Given the description of an element on the screen output the (x, y) to click on. 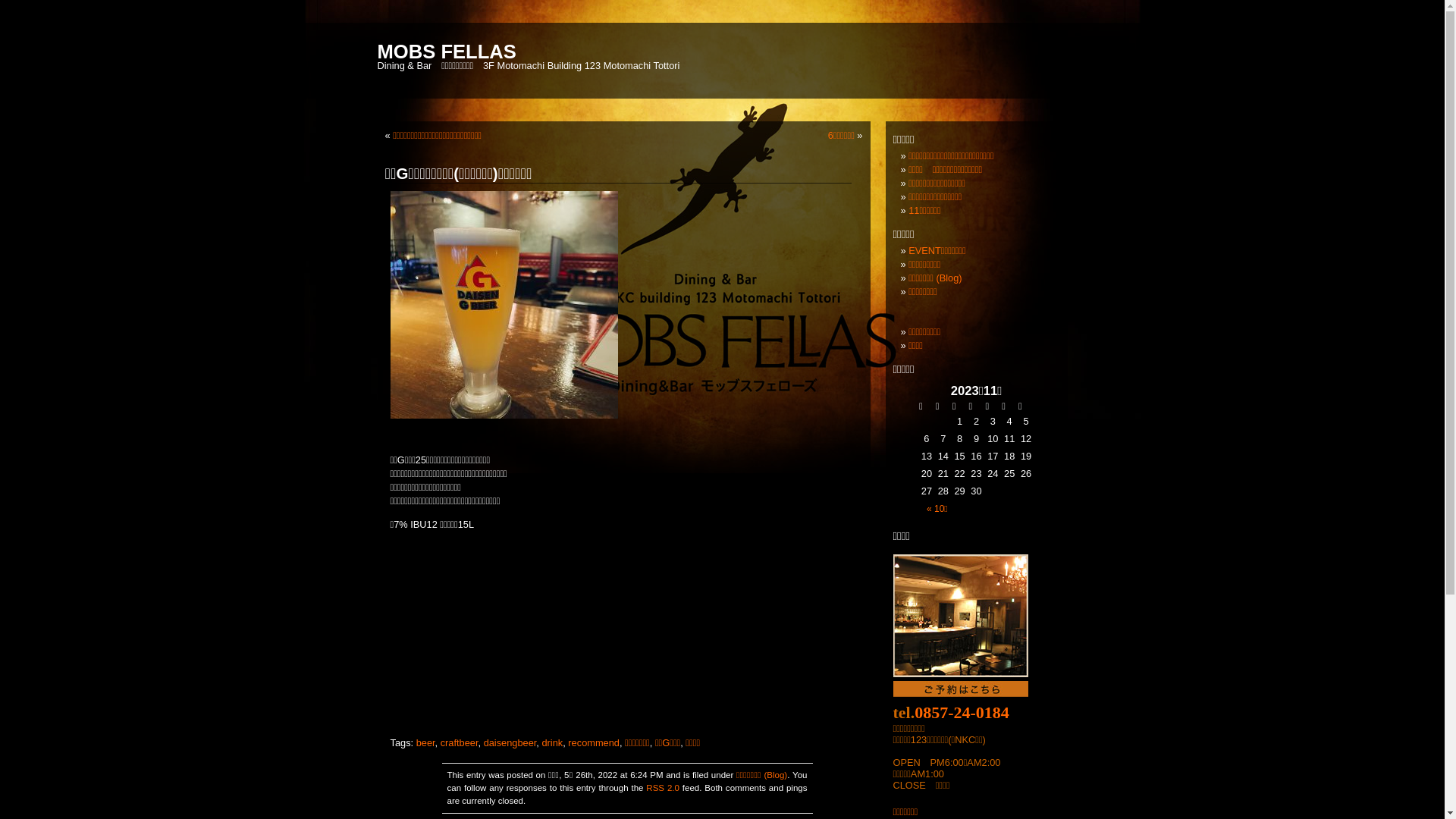
MOBS FELLAS Element type: text (446, 51)
RSS 2.0 Element type: text (662, 787)
0857-24-0184 Element type: text (961, 711)
recommend Element type: text (593, 742)
craftbeer Element type: text (459, 742)
beer Element type: text (425, 742)
drink Element type: text (551, 742)
daisengbeer Element type: text (509, 742)
